Given the description of an element on the screen output the (x, y) to click on. 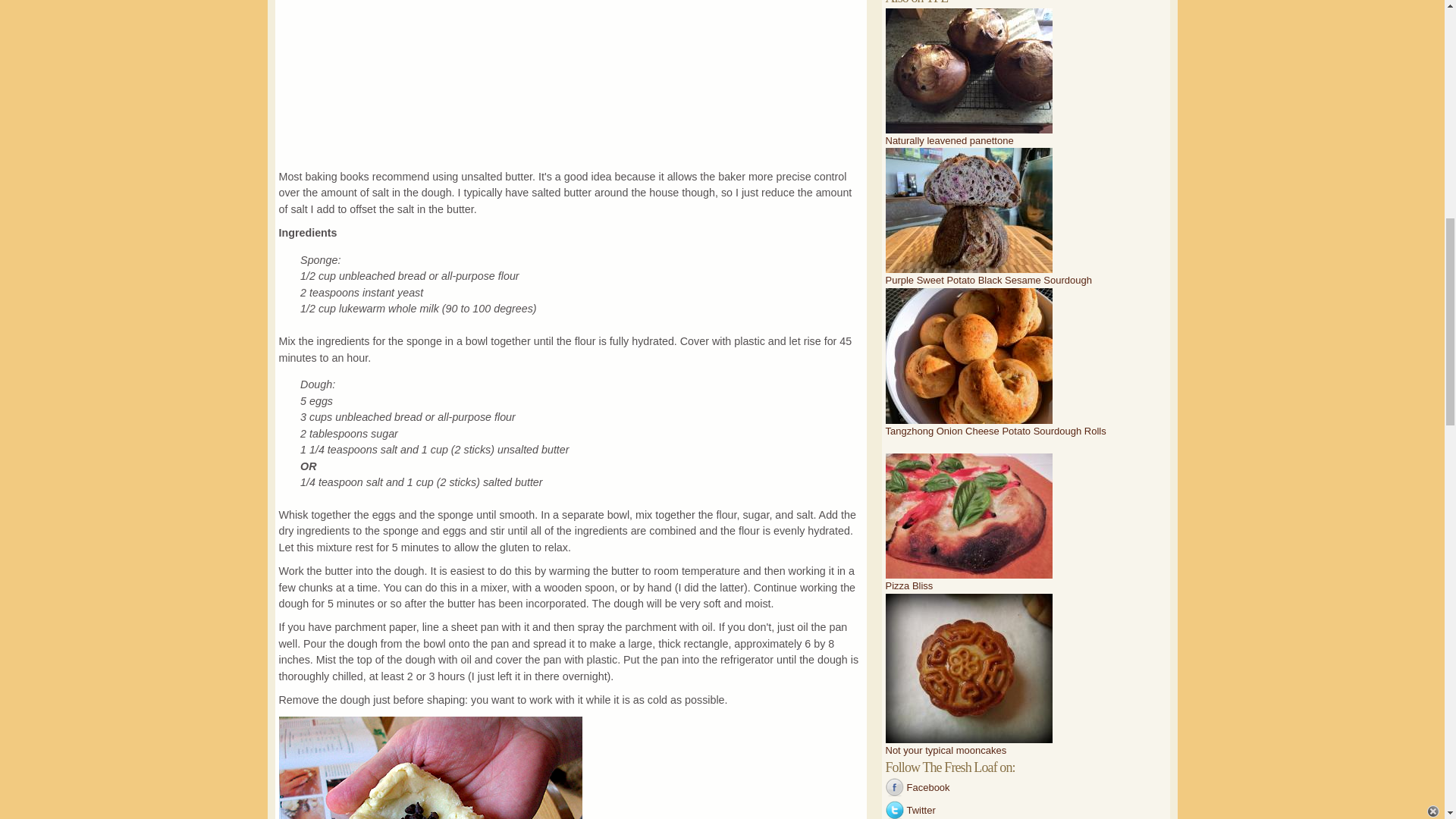
Advertisement (571, 84)
